Given the description of an element on the screen output the (x, y) to click on. 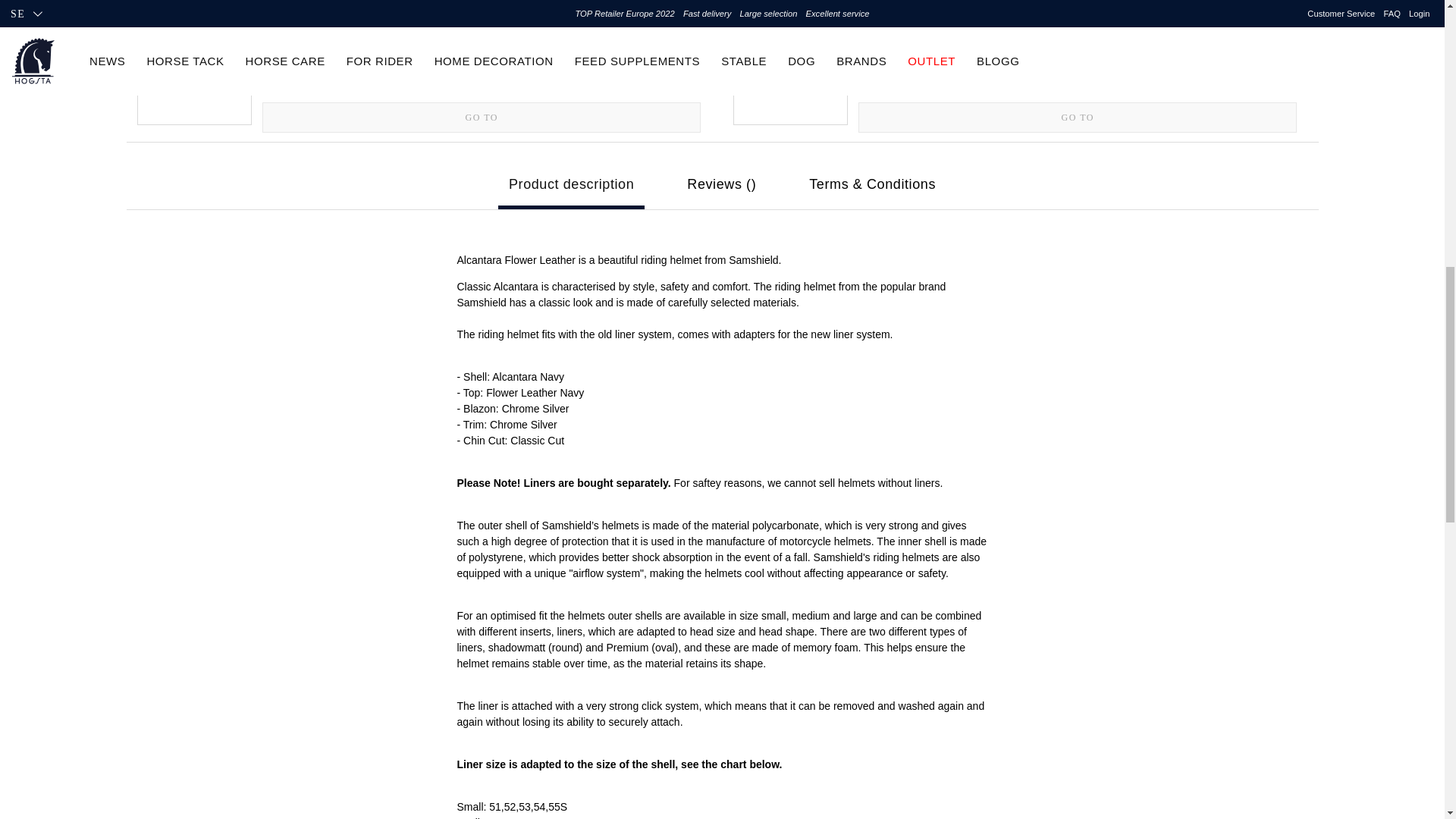
Samshield Premium Replacement Liner (481, 19)
GO TO (481, 117)
GO TO (481, 116)
